Given the description of an element on the screen output the (x, y) to click on. 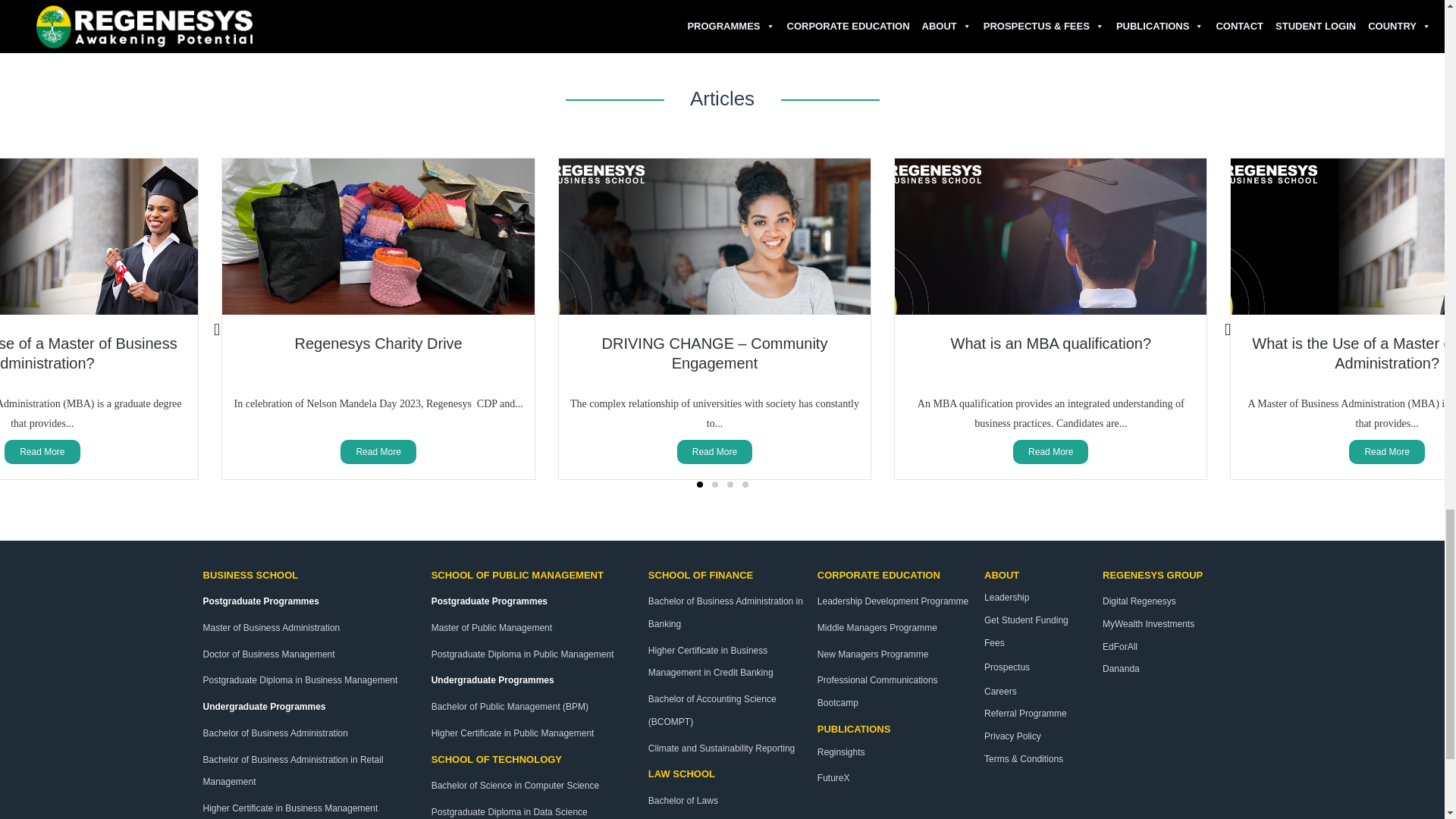
What is an MBA qualification? (1050, 343)
Regenesys Charity Drive (379, 343)
What is the Use of a Master of Business Administration? (1354, 352)
What is the Use of a Master of Business Administration? (88, 352)
